Given the description of an element on the screen output the (x, y) to click on. 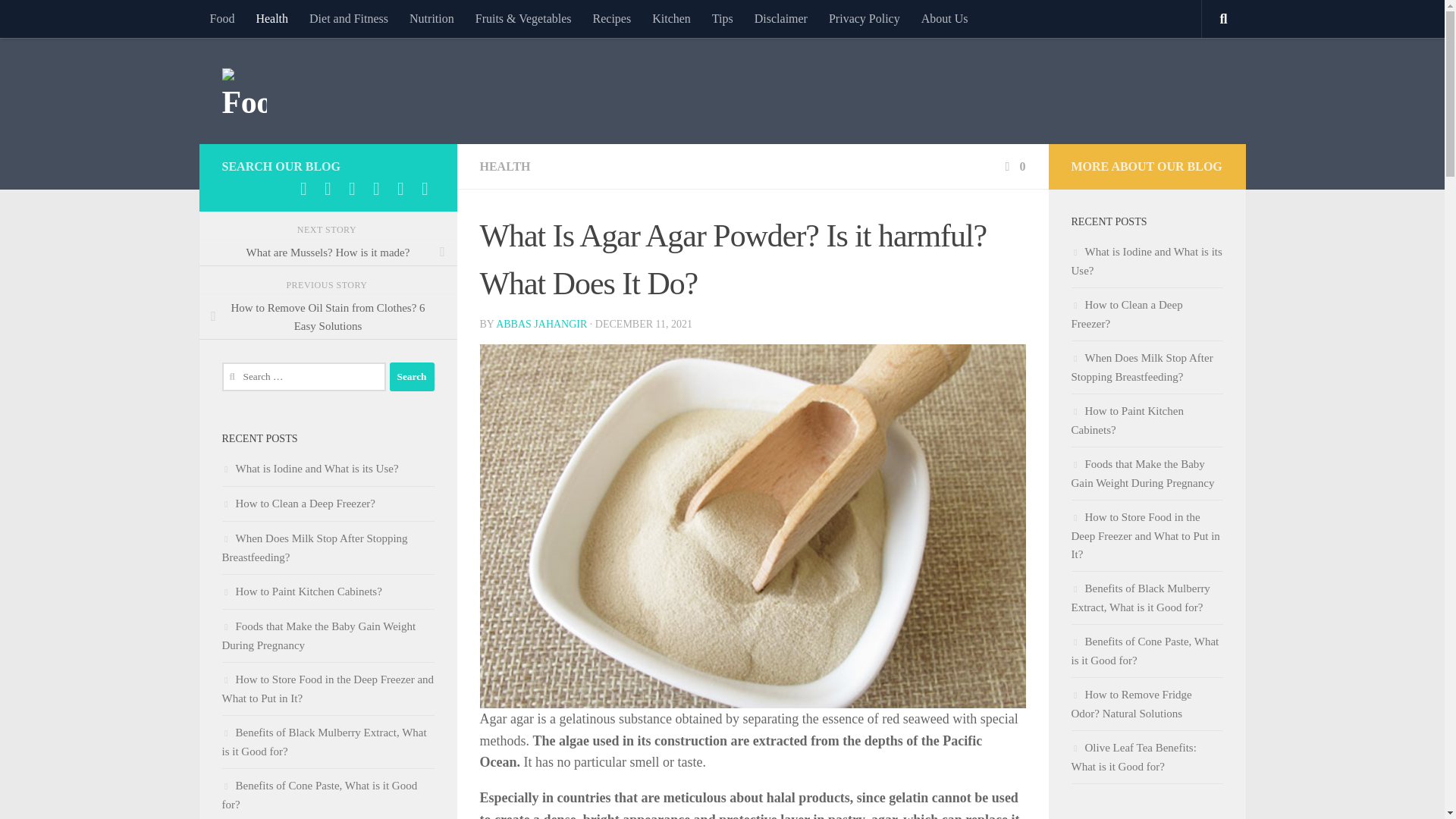
Privacy Policy (864, 18)
Tips (722, 18)
Recipes (612, 18)
Skip to content (59, 20)
Follow us on Linkedin (327, 188)
Search (411, 376)
Search (411, 376)
Posts by Abbas Jahangir (541, 324)
Disclaimer (781, 18)
Nutrition (431, 18)
Follow us on Facebook (303, 188)
Diet and Fitness (348, 18)
Health (271, 18)
Follow us on Pinterest (351, 188)
ABBAS JAHANGIR (541, 324)
